Given the description of an element on the screen output the (x, y) to click on. 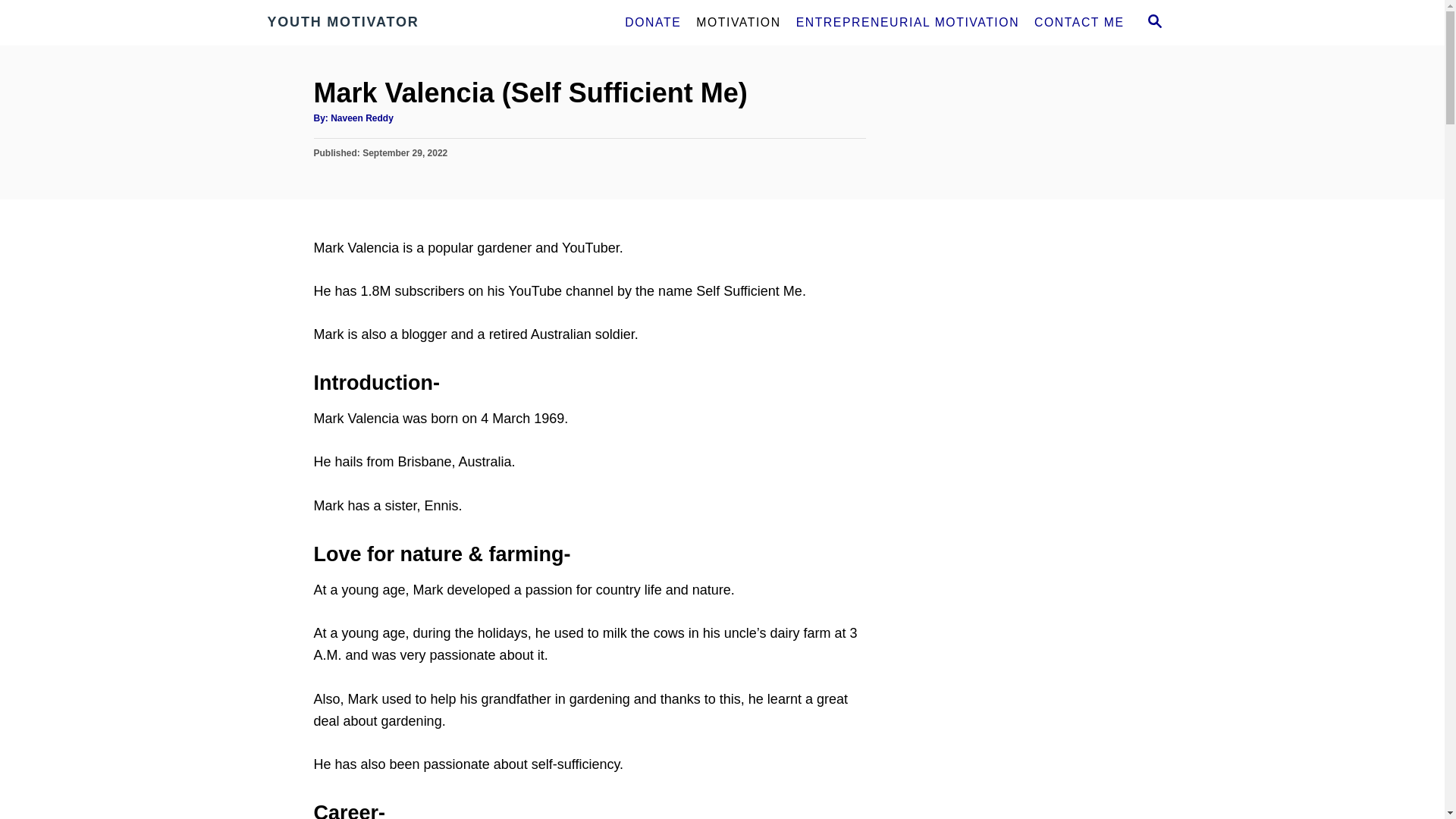
MOTIVATION (737, 22)
YOUTH MOTIVATOR (403, 22)
SEARCH (1153, 22)
ENTREPRENEURIAL MOTIVATION (907, 22)
DONATE (652, 22)
Naveen Reddy (361, 118)
Youth Motivator (403, 22)
CONTACT ME (1078, 22)
